Given the description of an element on the screen output the (x, y) to click on. 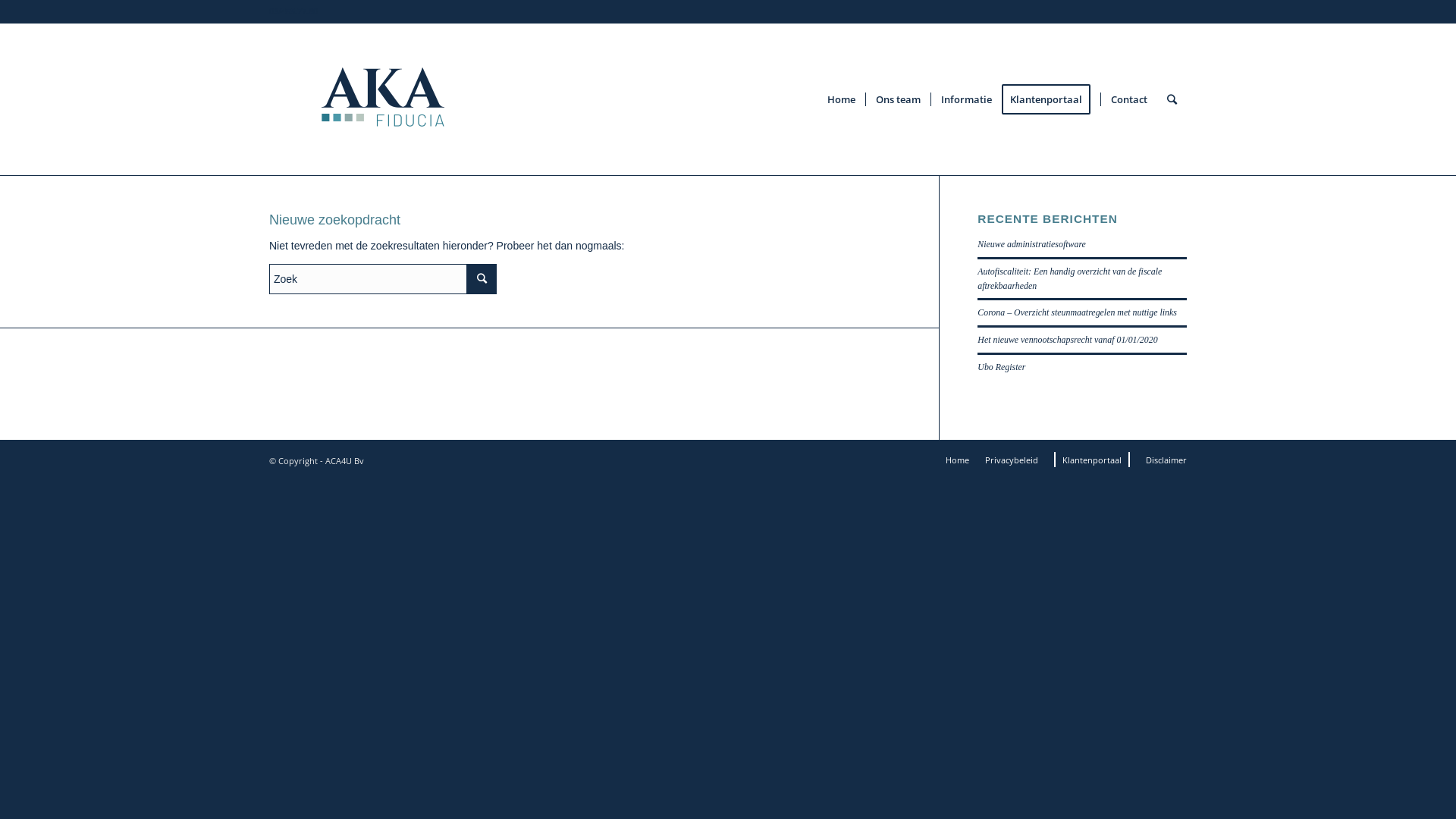
Home Element type: text (841, 99)
Het nieuwe vennootschapsrecht vanaf 01/01/2020 Element type: text (1067, 339)
Nieuwe administratiesoftware Element type: text (1031, 243)
Klantenportaal Element type: text (1091, 459)
Contact Element type: text (1128, 99)
Ons team Element type: text (897, 99)
Klantenportaal Element type: text (1050, 99)
Home Element type: text (957, 459)
Privacybeleid Element type: text (1011, 459)
Disclaimer Element type: text (1165, 459)
Ubo Register Element type: text (1001, 366)
Informatie Element type: text (965, 99)
